Given the description of an element on the screen output the (x, y) to click on. 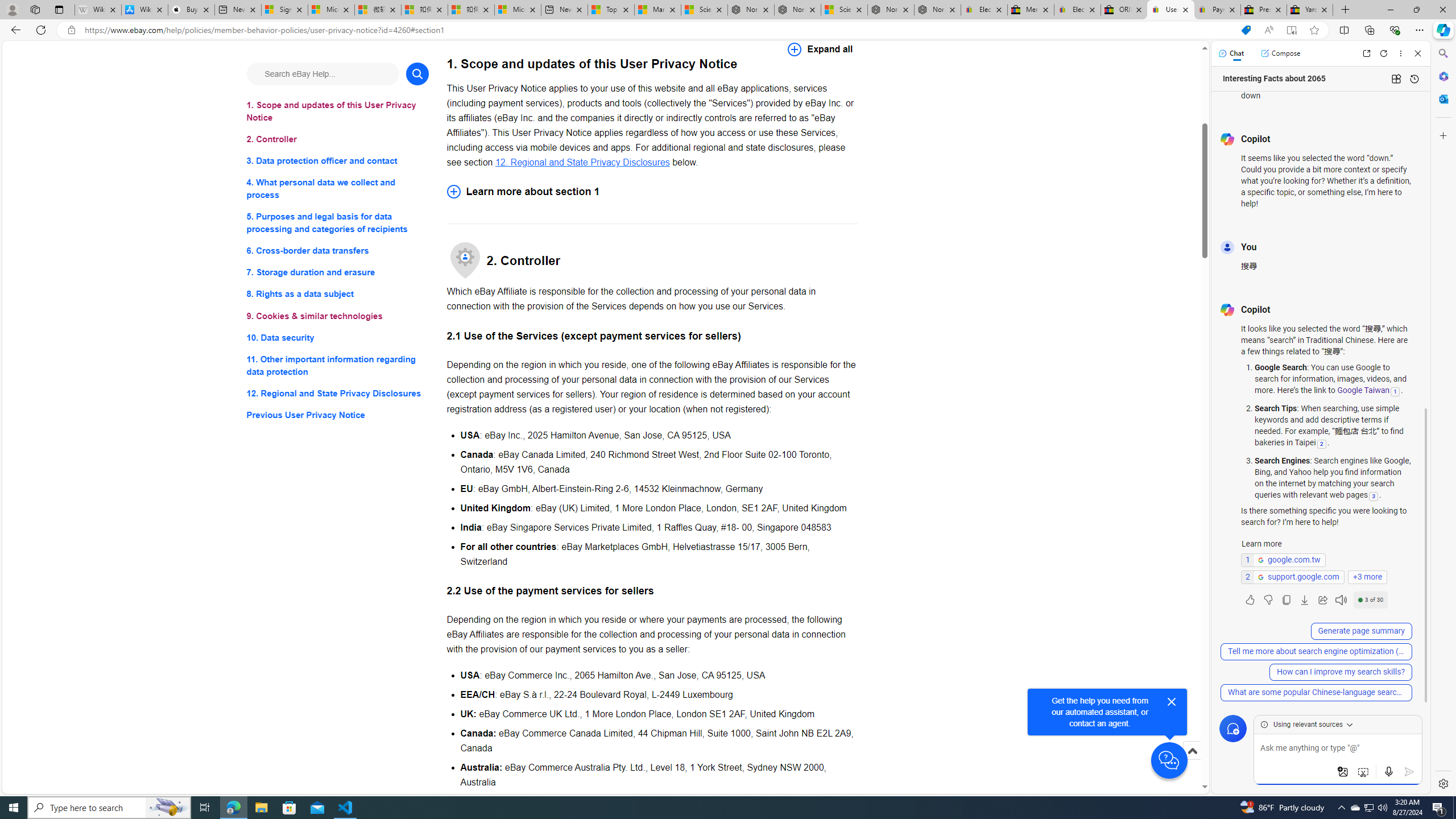
Previous User Privacy Notice (337, 414)
12. Regional and State Privacy Disclosures (582, 162)
